Given the description of an element on the screen output the (x, y) to click on. 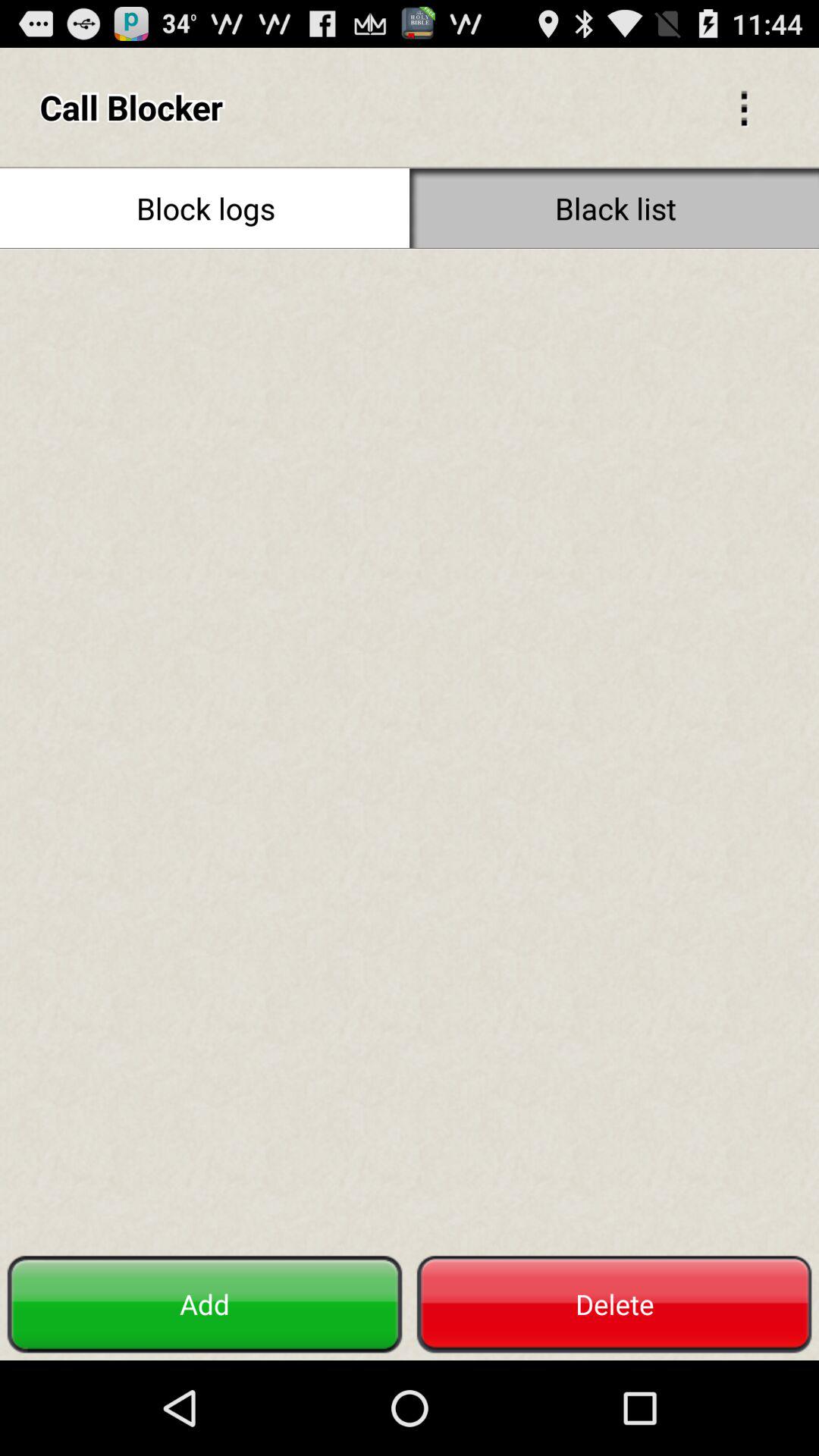
click icon to the right of call blocker icon (744, 107)
